Given the description of an element on the screen output the (x, y) to click on. 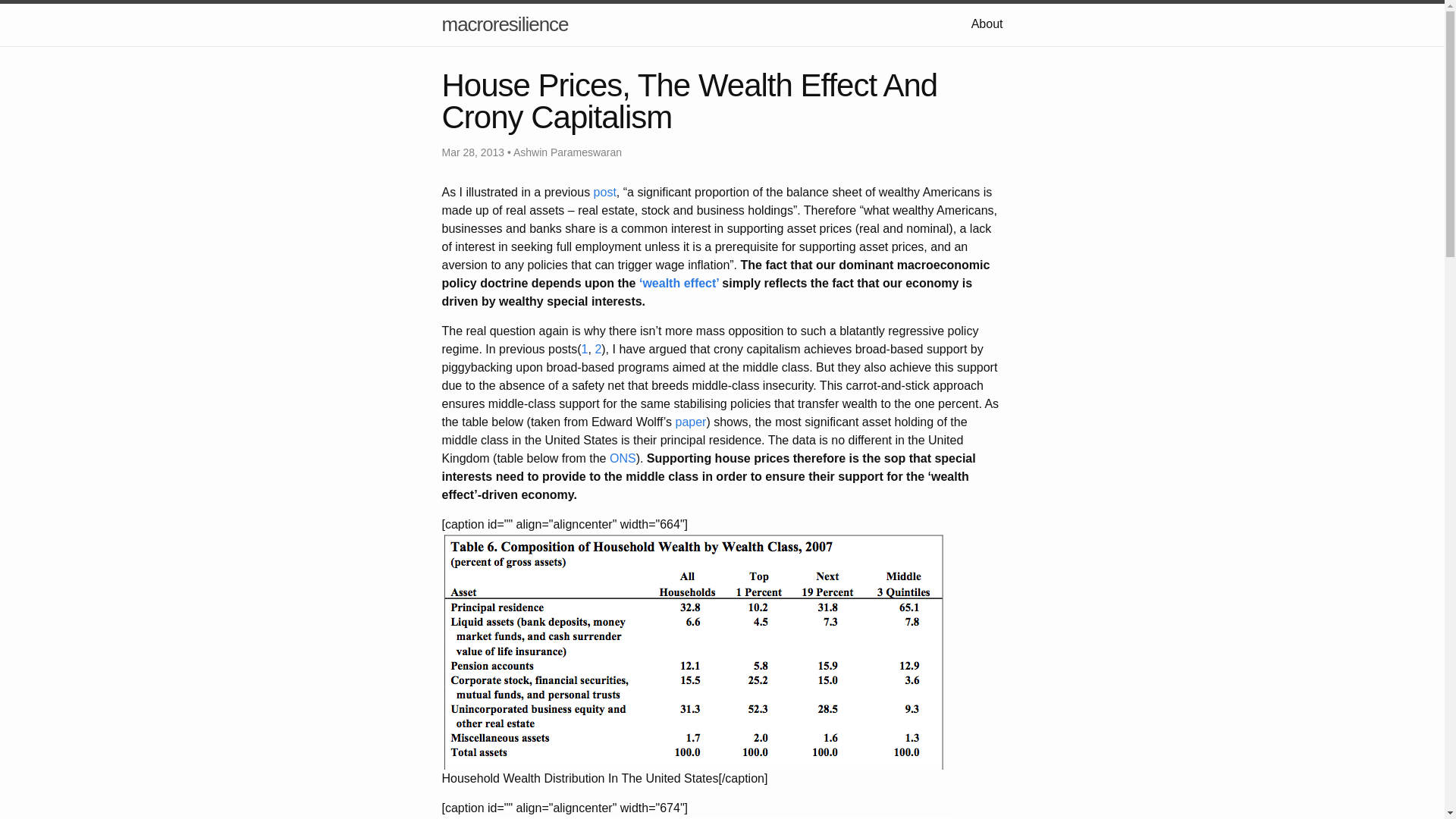
Household Wealth Distribution In The United States (692, 651)
macroresilience (504, 24)
ONS (623, 458)
paper (690, 421)
post (604, 192)
About (987, 23)
